Given the description of an element on the screen output the (x, y) to click on. 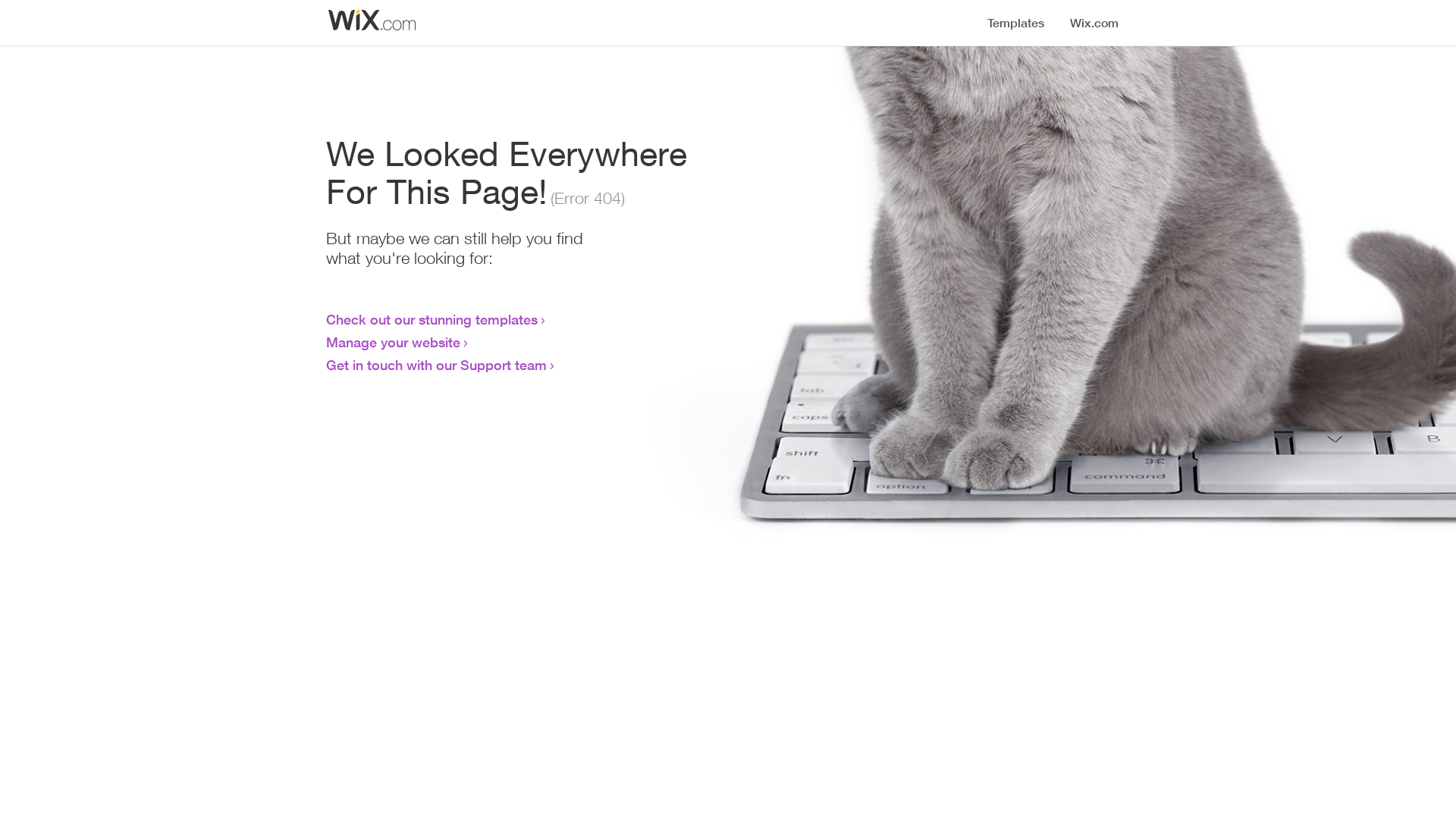
Manage your website Element type: text (393, 341)
Get in touch with our Support team Element type: text (436, 364)
Check out our stunning templates Element type: text (431, 318)
